Given the description of an element on the screen output the (x, y) to click on. 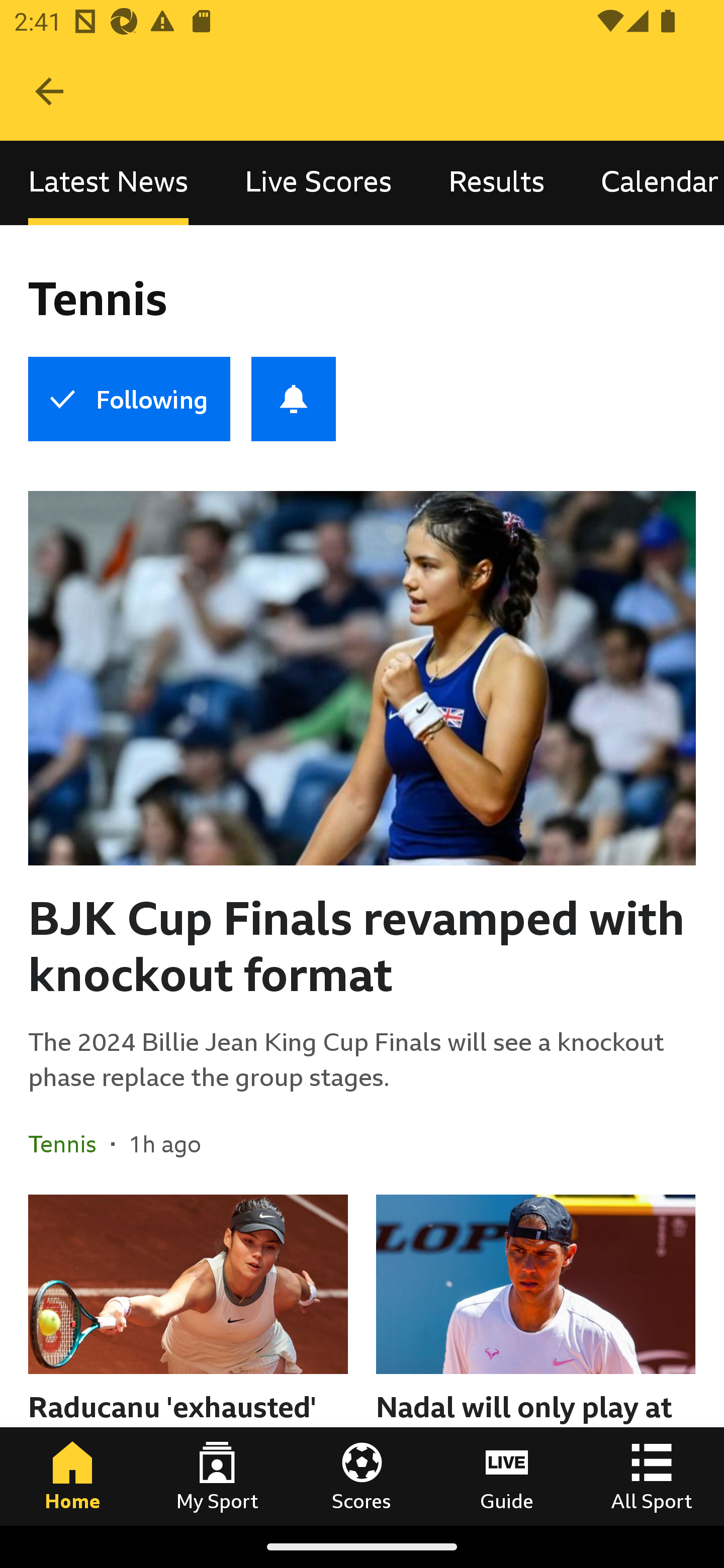
Navigate up (49, 91)
Latest News, selected Latest News (108, 183)
Live Scores (318, 183)
Results (496, 183)
Calendar (648, 183)
Following Tennis Following (129, 398)
Push notifications for Tennis (293, 398)
My Sport (216, 1475)
Scores (361, 1475)
Guide (506, 1475)
All Sport (651, 1475)
